Given the description of an element on the screen output the (x, y) to click on. 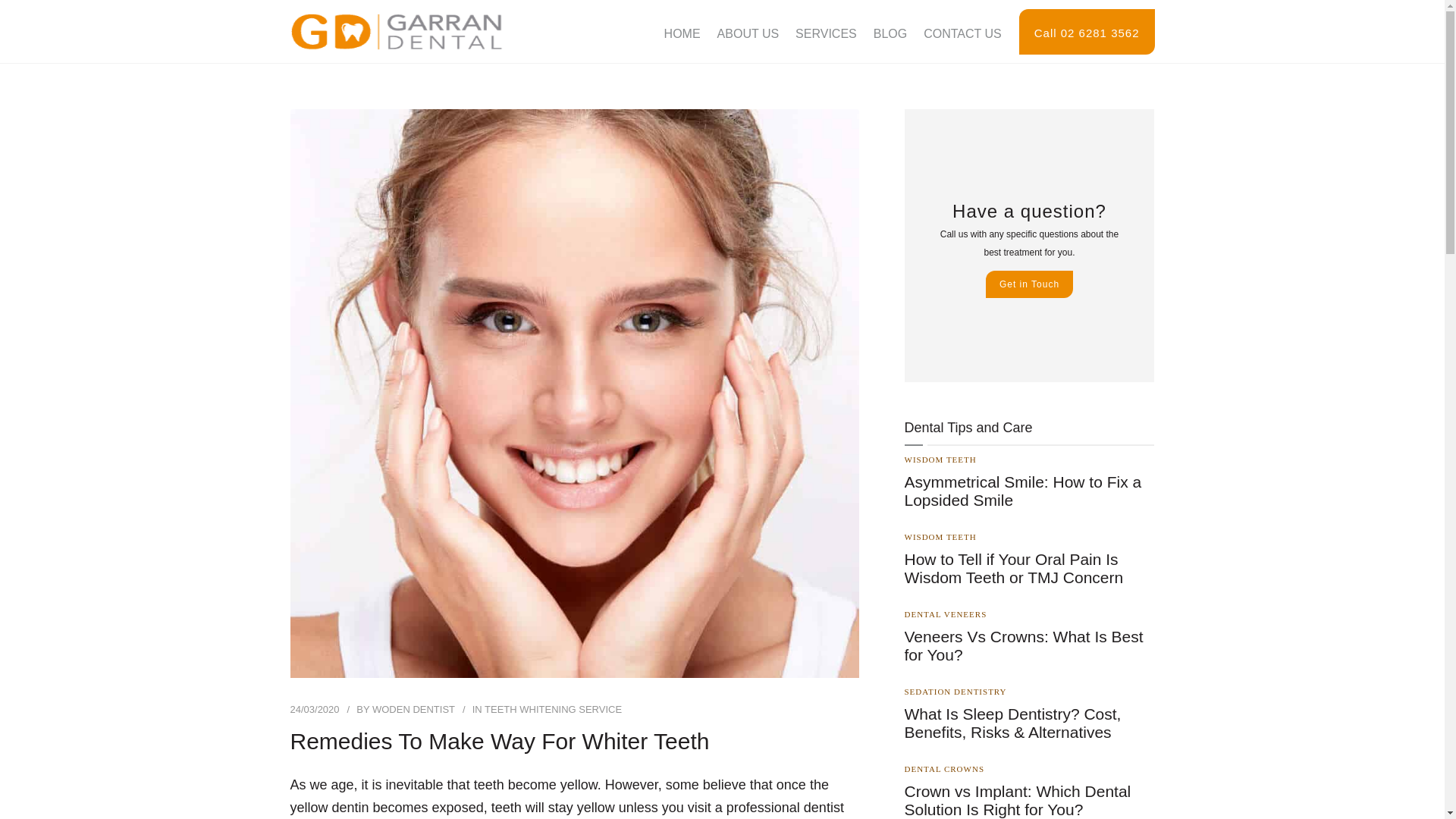
Asymmetrical Smile: How to Fix a Lopsided Smile (1029, 491)
How to Tell if Your Oral Pain Is Wisdom Teeth or TMJ Concern (1029, 568)
Veneers Vs Crowns: What Is Best for You? (1029, 646)
Crown vs Implant: Which Dental Solution Is Right for You? (1029, 800)
SERVICES (825, 33)
ABOUT US (748, 33)
HOME (682, 33)
